Given the description of an element on the screen output the (x, y) to click on. 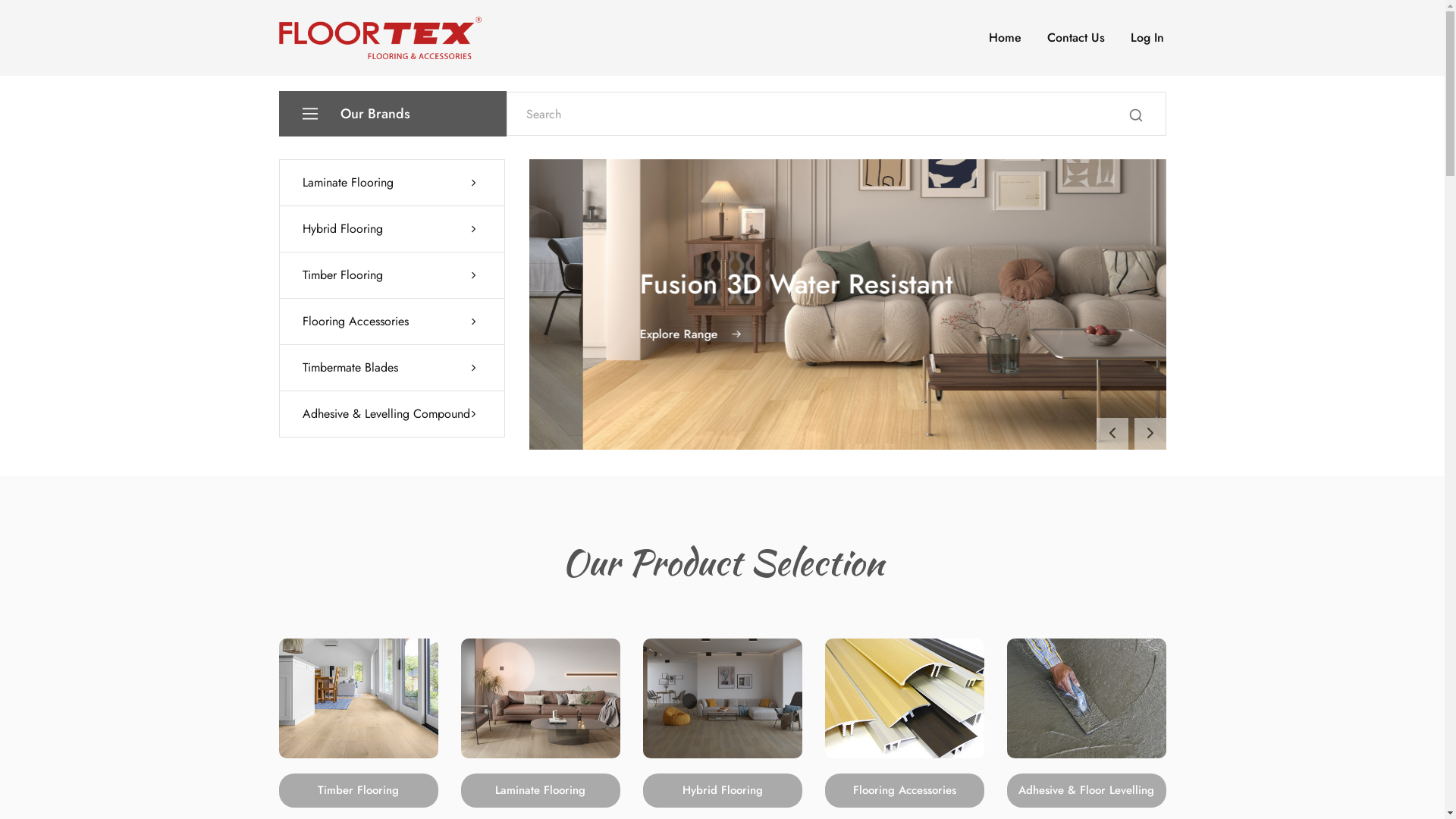
Contact Us Element type: text (1075, 37)
Hybrid Flooring Element type: text (722, 790)
Home Element type: text (1003, 37)
Hybrid Flooring Element type: text (391, 228)
Adhesive & Floor Levelling Element type: text (1086, 790)
Timbermate Blades Element type: text (391, 367)
Timber Flooring Element type: text (358, 790)
Flooring Accessories Element type: text (391, 321)
Timber Flooring Element type: text (391, 275)
Laminate Flooring Element type: text (540, 790)
Adhesive & Levelling Compound Element type: text (391, 413)
Explore More Element type: text (633, 333)
Laminate Flooring Element type: text (391, 182)
Log In Element type: text (1147, 37)
Flooring Accessories Element type: text (904, 790)
